Given the description of an element on the screen output the (x, y) to click on. 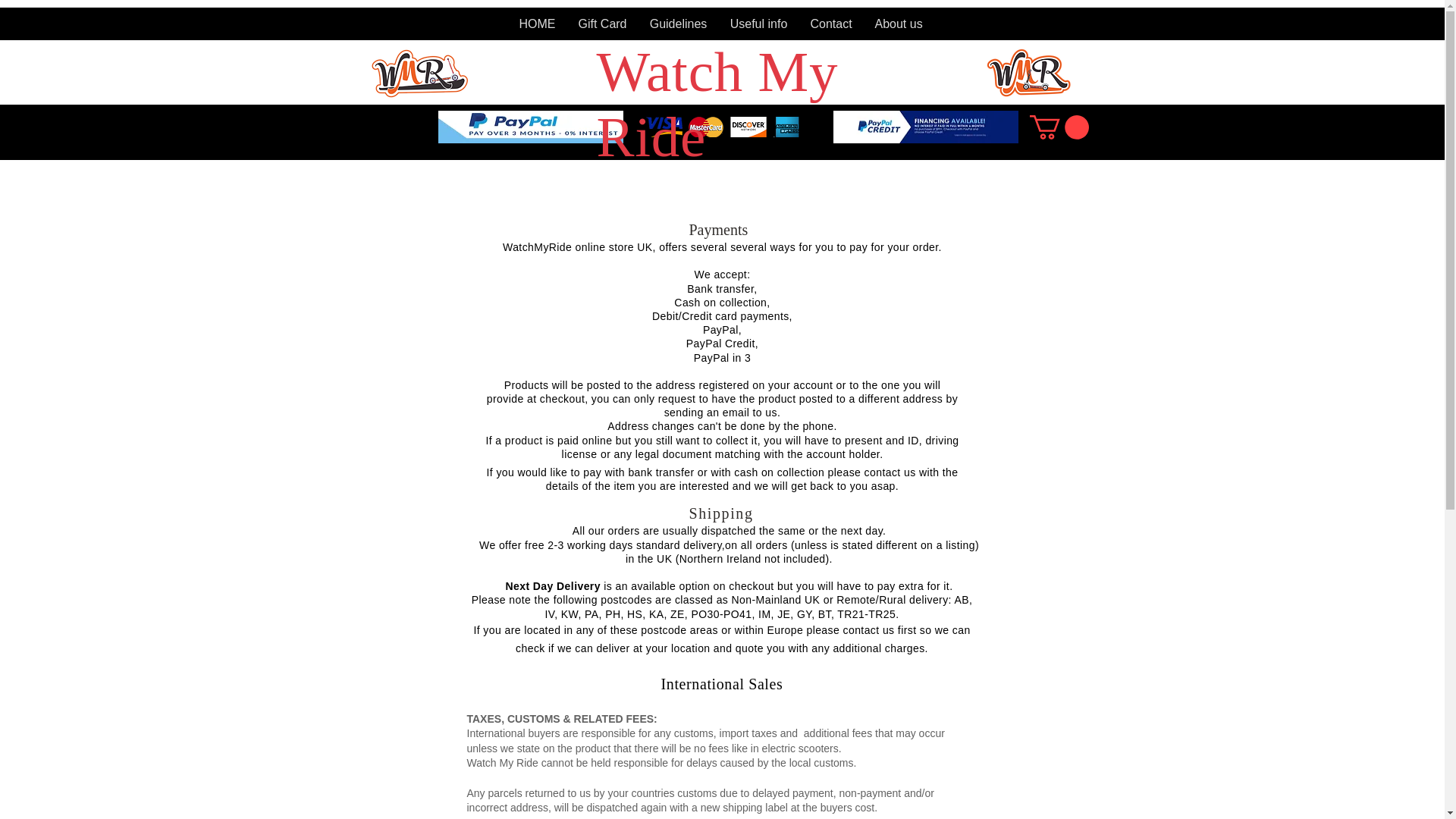
Contact (831, 24)
Gift Card (603, 24)
HOME (537, 24)
Useful info (759, 24)
About us (898, 24)
Guidelines (679, 24)
Watch My Ride (716, 104)
